Given the description of an element on the screen output the (x, y) to click on. 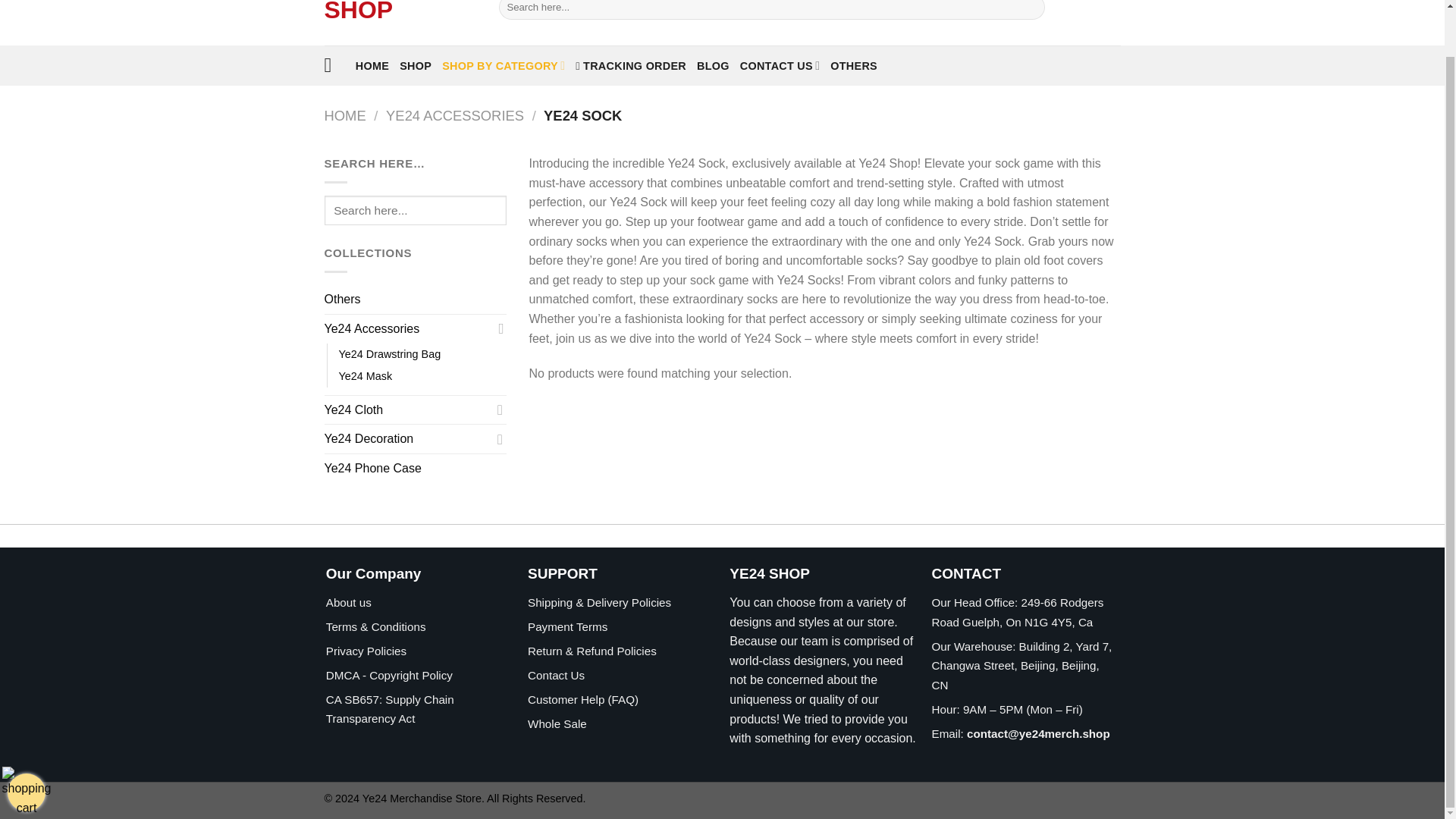
HOME (371, 65)
SHOP (414, 65)
Ye24 Shop - Official Ye24 Merchandise Store (400, 22)
SHOP BY CATEGORY (503, 65)
View your shopping cart (26, 741)
